Given the description of an element on the screen output the (x, y) to click on. 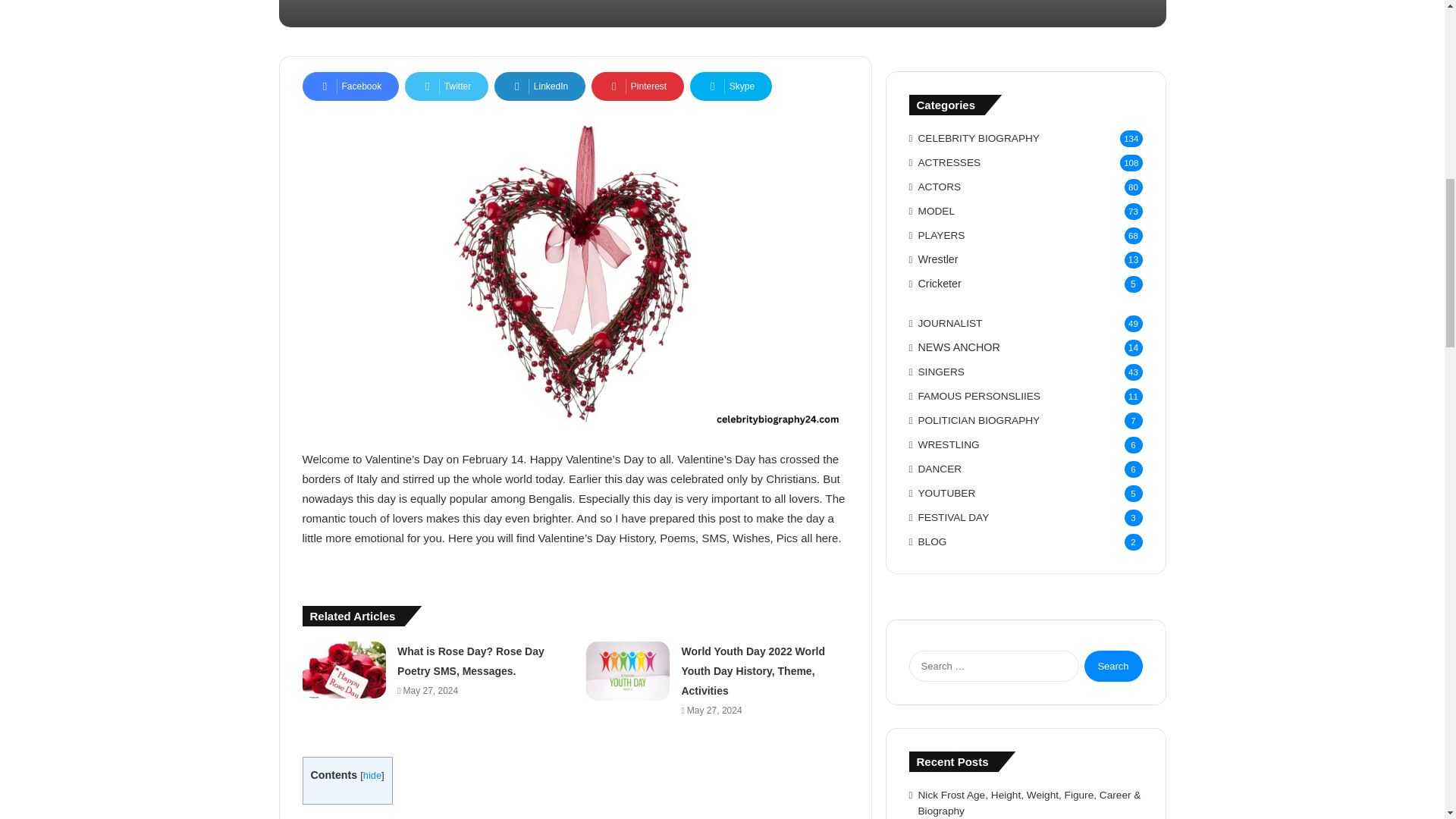
Search (1113, 665)
LinkedIn (540, 86)
Skype (730, 86)
Facebook (349, 86)
Search (1113, 665)
Skype (730, 86)
Twitter (445, 86)
What is Rose Day? Rose Day Poetry SMS, Messages. (470, 661)
Twitter (445, 86)
